Given the description of an element on the screen output the (x, y) to click on. 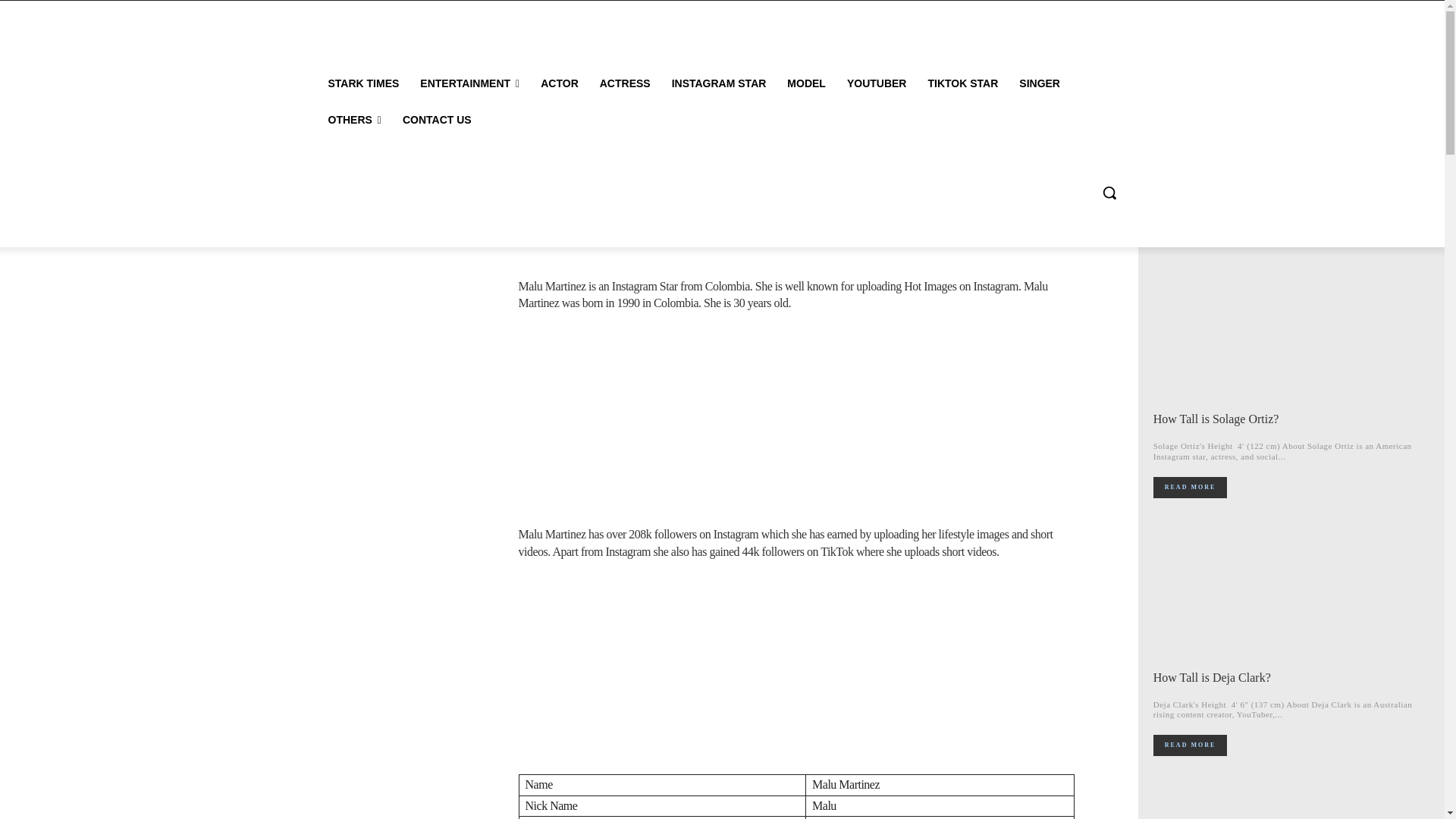
ENTERTAINMENT (469, 83)
How Tall is Deja Clark? (1212, 676)
Read more (1190, 486)
How Tall is Solage Ortiz? (1216, 418)
How Tall is Deja Clark? (1292, 590)
How Tall is Solage Ortiz? (1292, 332)
How tall is Chris Gone Crazy? (1292, 798)
Read more (1190, 744)
STARK TIMES (363, 83)
